Given the description of an element on the screen output the (x, y) to click on. 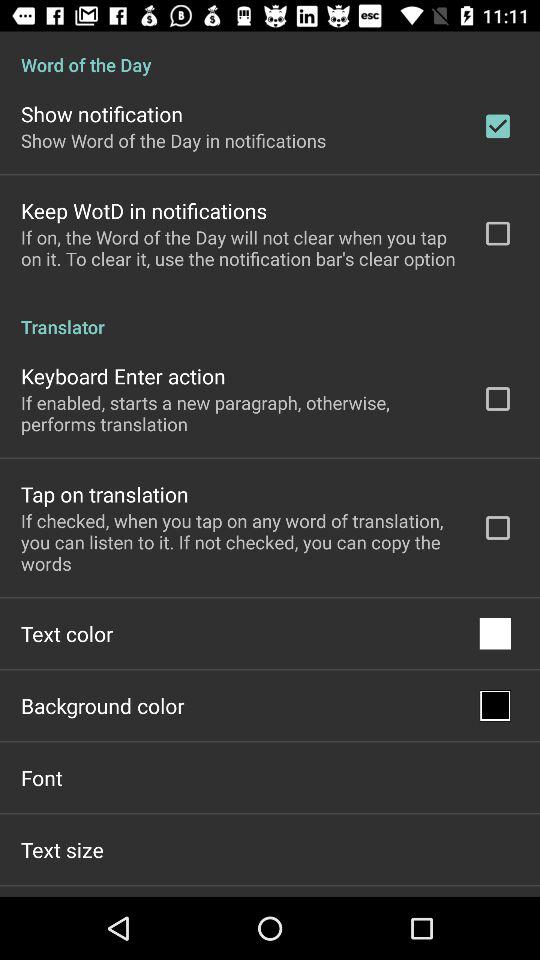
choose the app below if on the icon (270, 316)
